Given the description of an element on the screen output the (x, y) to click on. 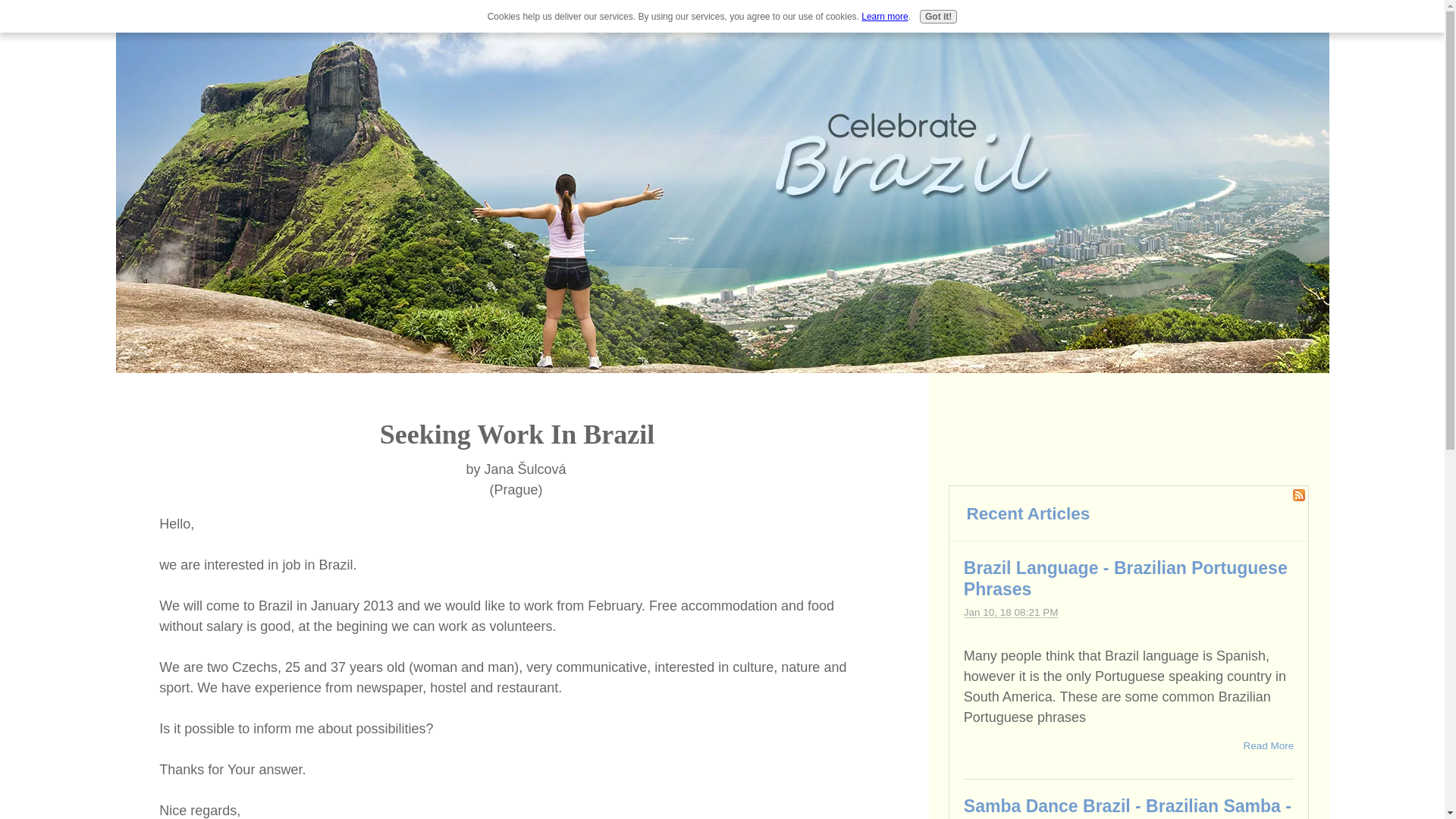
2018-01-10T20:21:17-0500 (1010, 612)
Home (137, 16)
Samba Dance Brazil - Brazilian Samba - Samba History (1127, 807)
Read More (1268, 745)
Recent Articles (1027, 513)
Brazil Language - Brazilian Portuguese Phrases (1125, 577)
